Given the description of an element on the screen output the (x, y) to click on. 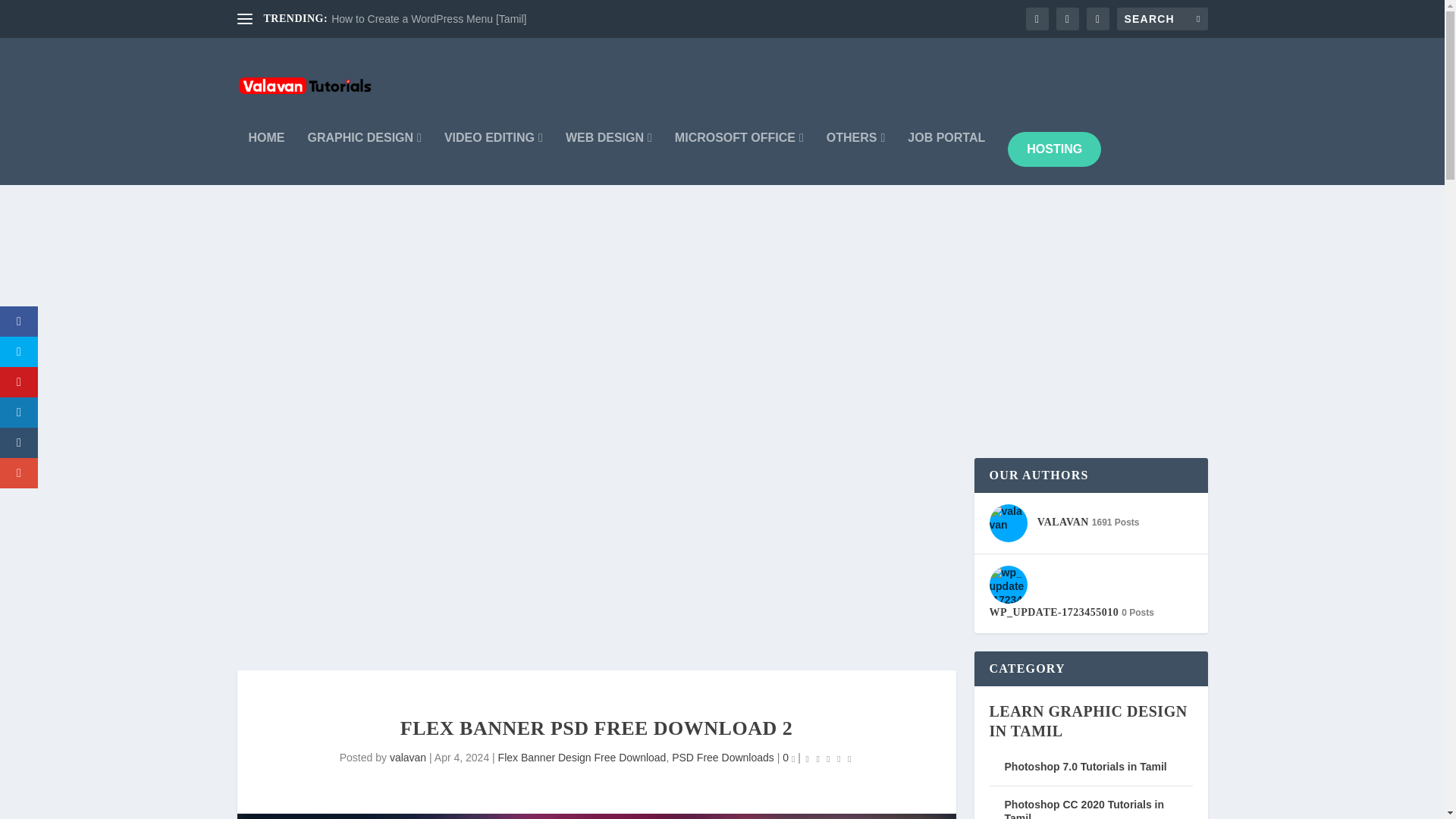
Posts by valavan (408, 757)
MICROSOFT OFFICE (739, 158)
Rating: 0.00 (828, 758)
VIDEO EDITING (493, 158)
HOSTING (1053, 149)
Search for: (1161, 18)
OTHERS (856, 158)
GRAPHIC DESIGN (364, 158)
